Given the description of an element on the screen output the (x, y) to click on. 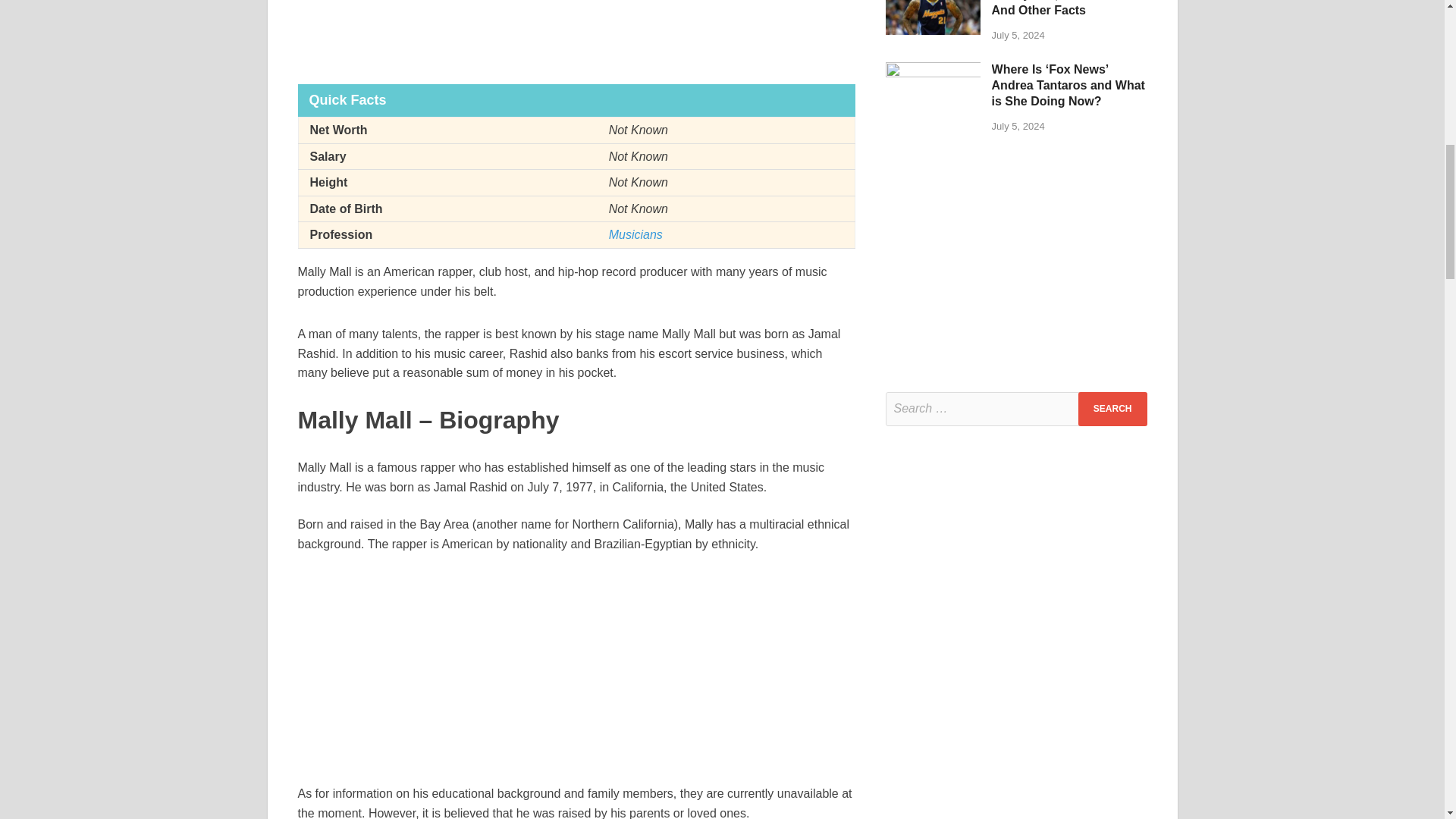
Musicians (635, 234)
Search (1112, 408)
Advertisement (575, 677)
Search (1112, 408)
